Given the description of an element on the screen output the (x, y) to click on. 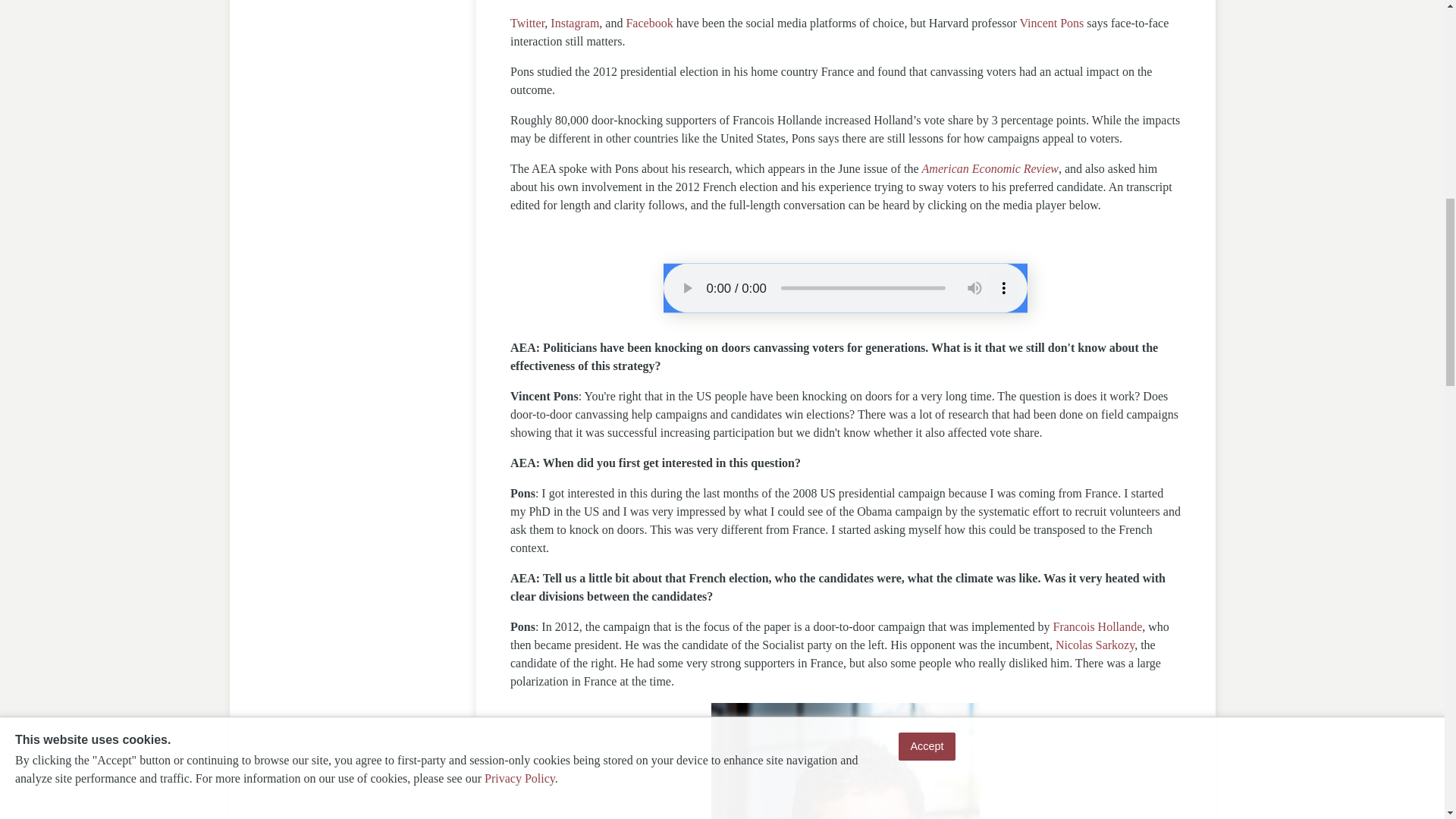
Nicolas Sarkozy (1094, 644)
Facebook (649, 22)
Twitter (527, 22)
Vincent Pons (1052, 22)
Francois Hollande (1097, 626)
American Economic Review (989, 168)
Instagram (574, 22)
